Given the description of an element on the screen output the (x, y) to click on. 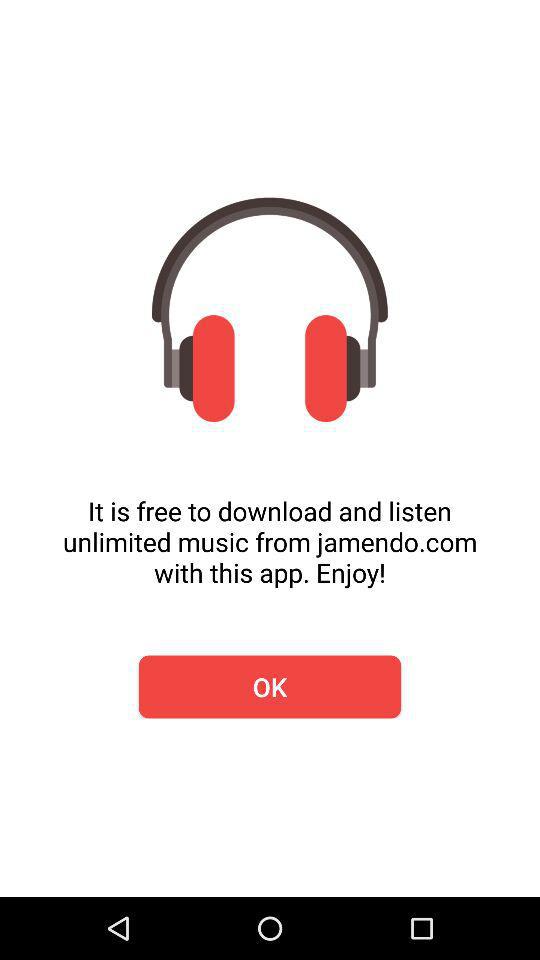
choose icon below it is free (269, 686)
